Given the description of an element on the screen output the (x, y) to click on. 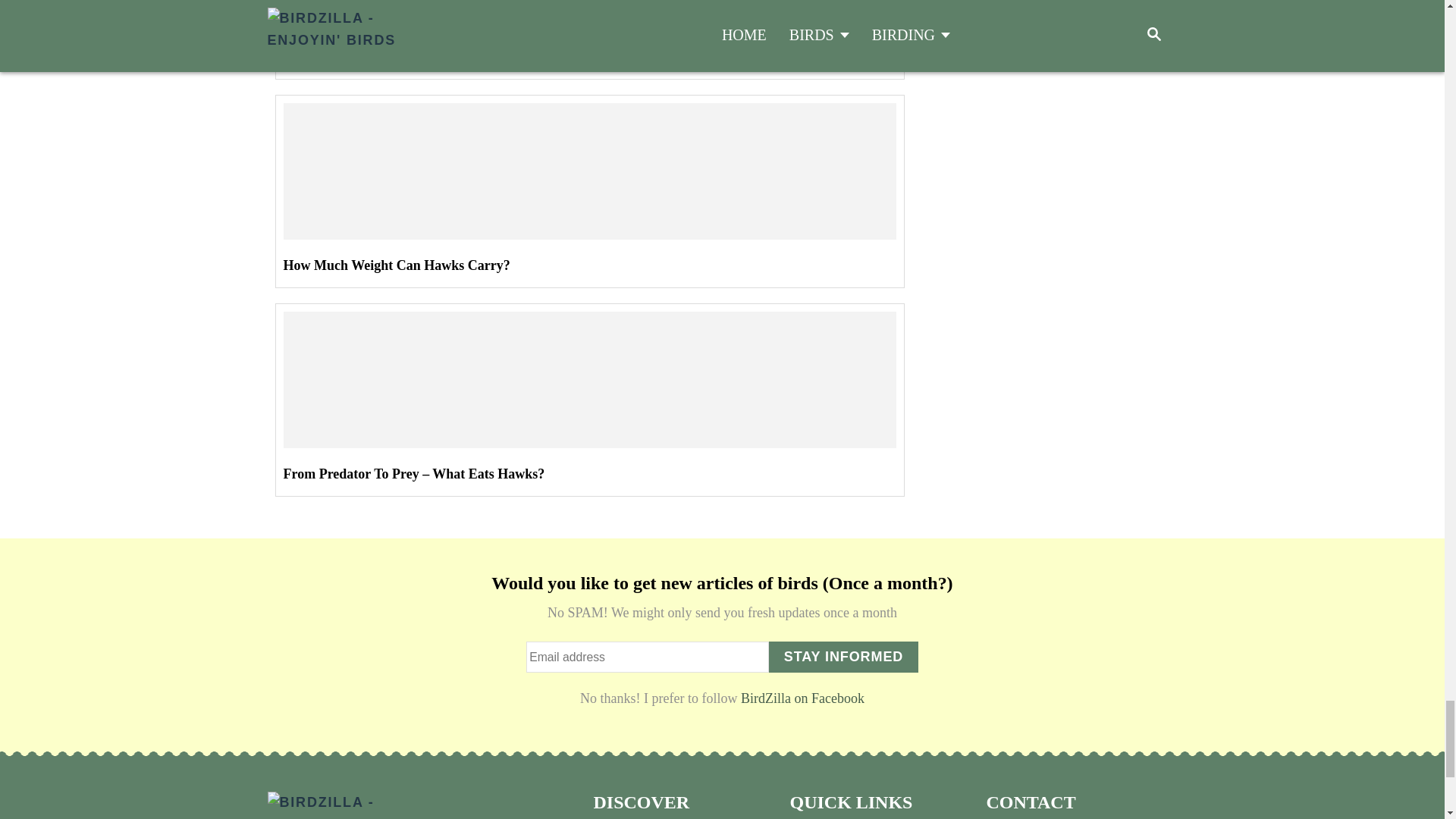
Birdzilla - Enjoyin' Birds (365, 803)
